Given the description of an element on the screen output the (x, y) to click on. 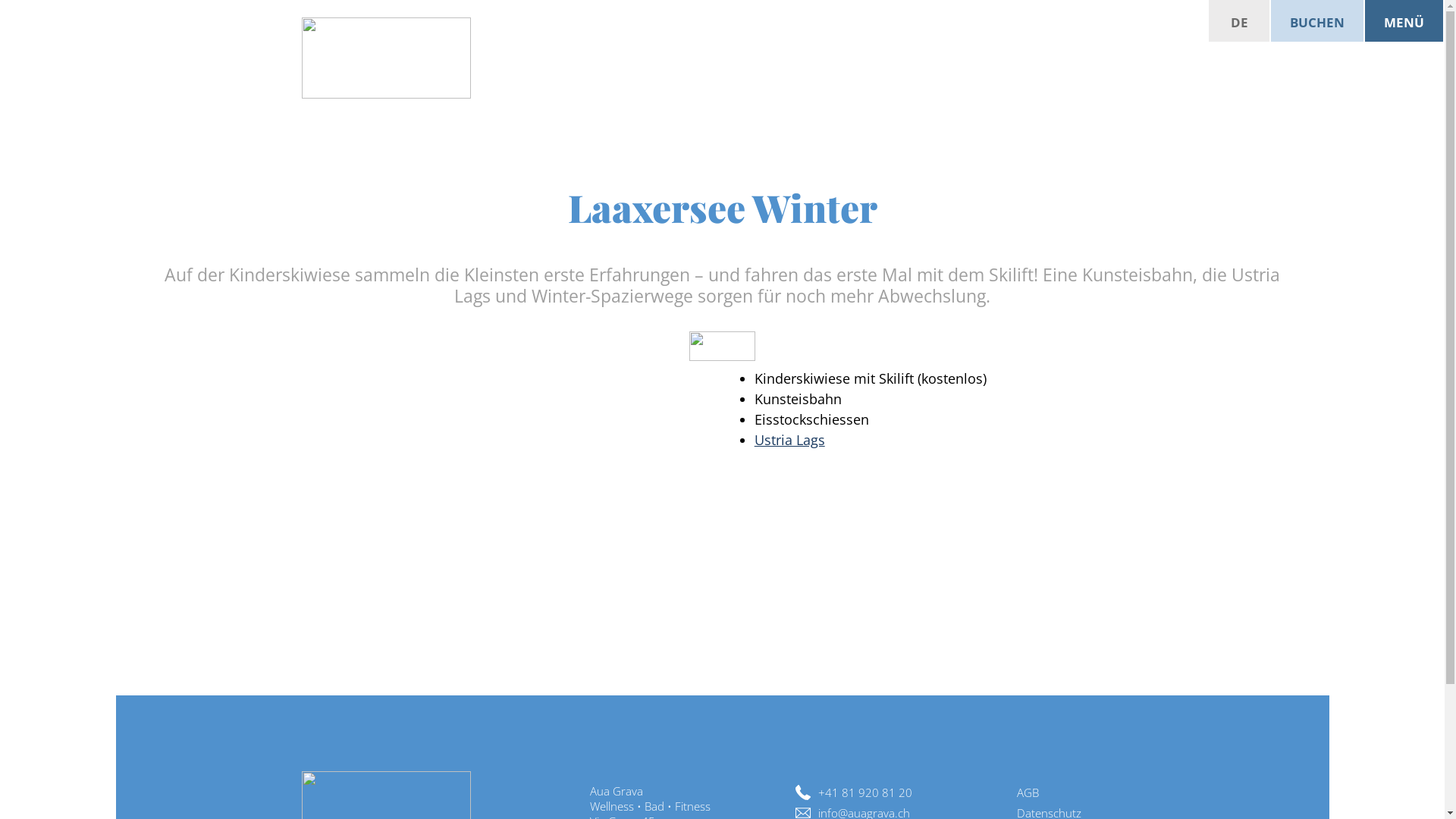
+41 81 920 81 20 Element type: text (853, 792)
BUCHEN Element type: text (1316, 20)
AGB Element type: text (1016, 792)
Ustria Lags Element type: text (789, 439)
